Given the description of an element on the screen output the (x, y) to click on. 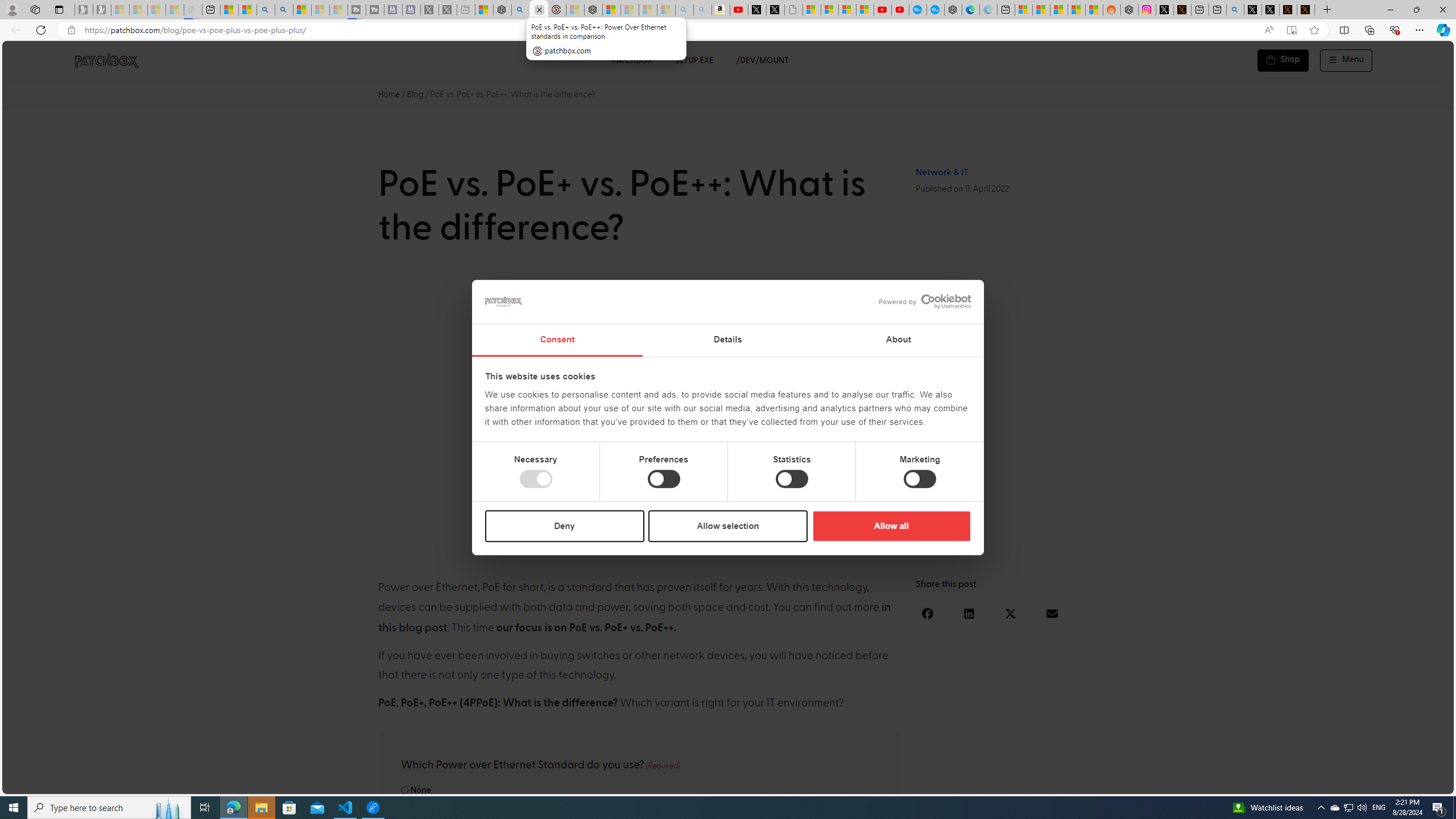
Language switcher : French (1243, 782)
